Given the description of an element on the screen output the (x, y) to click on. 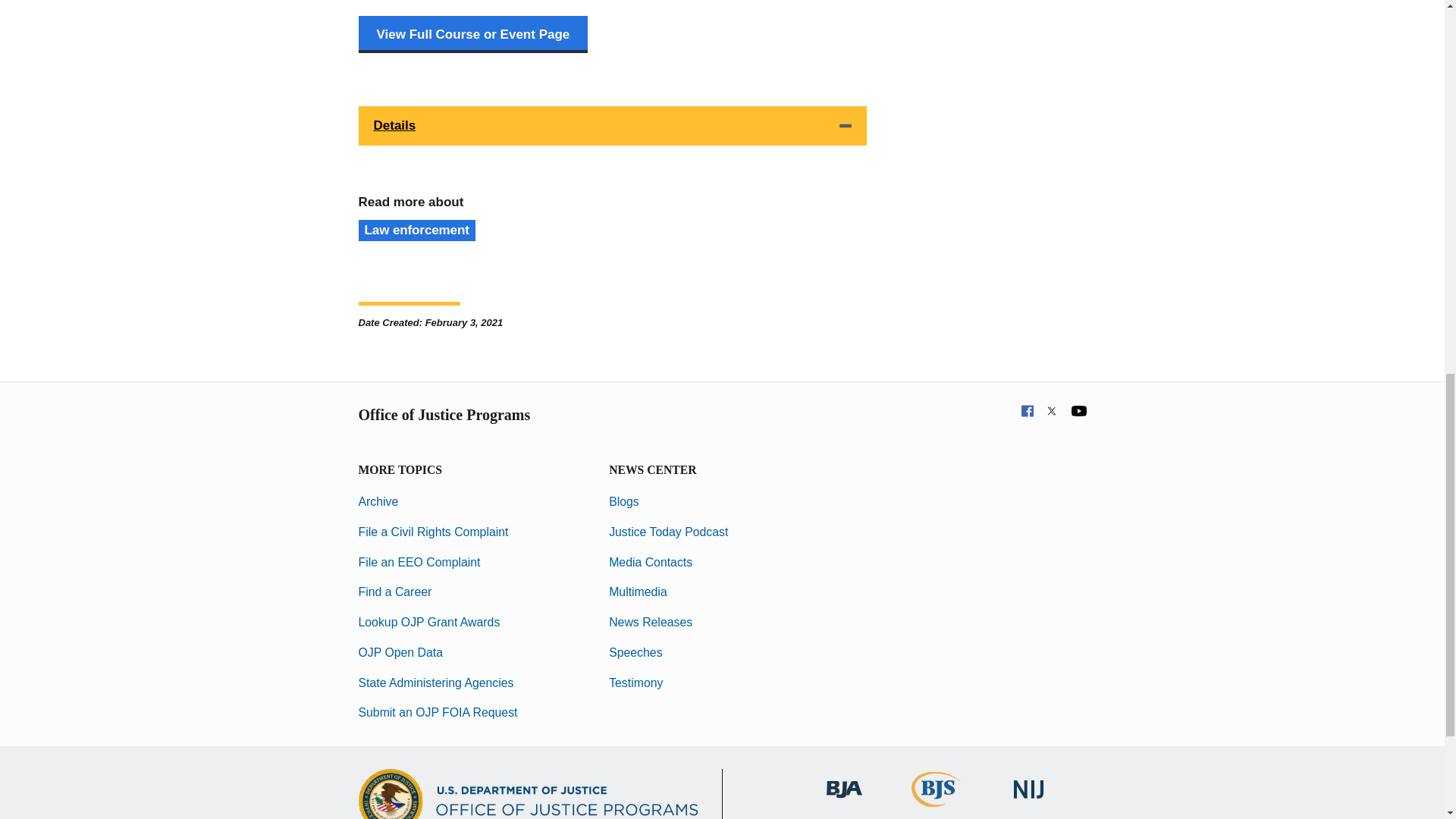
OJP Open Data (400, 652)
File a Civil Rights Complaint (433, 531)
Law enforcement (416, 230)
Lookup OJP Grant Awards (428, 621)
Details (612, 125)
File an EEO Complaint (419, 562)
View Full Course or Event Page (473, 34)
Archive (377, 501)
Find a Career (394, 591)
